Given the description of an element on the screen output the (x, y) to click on. 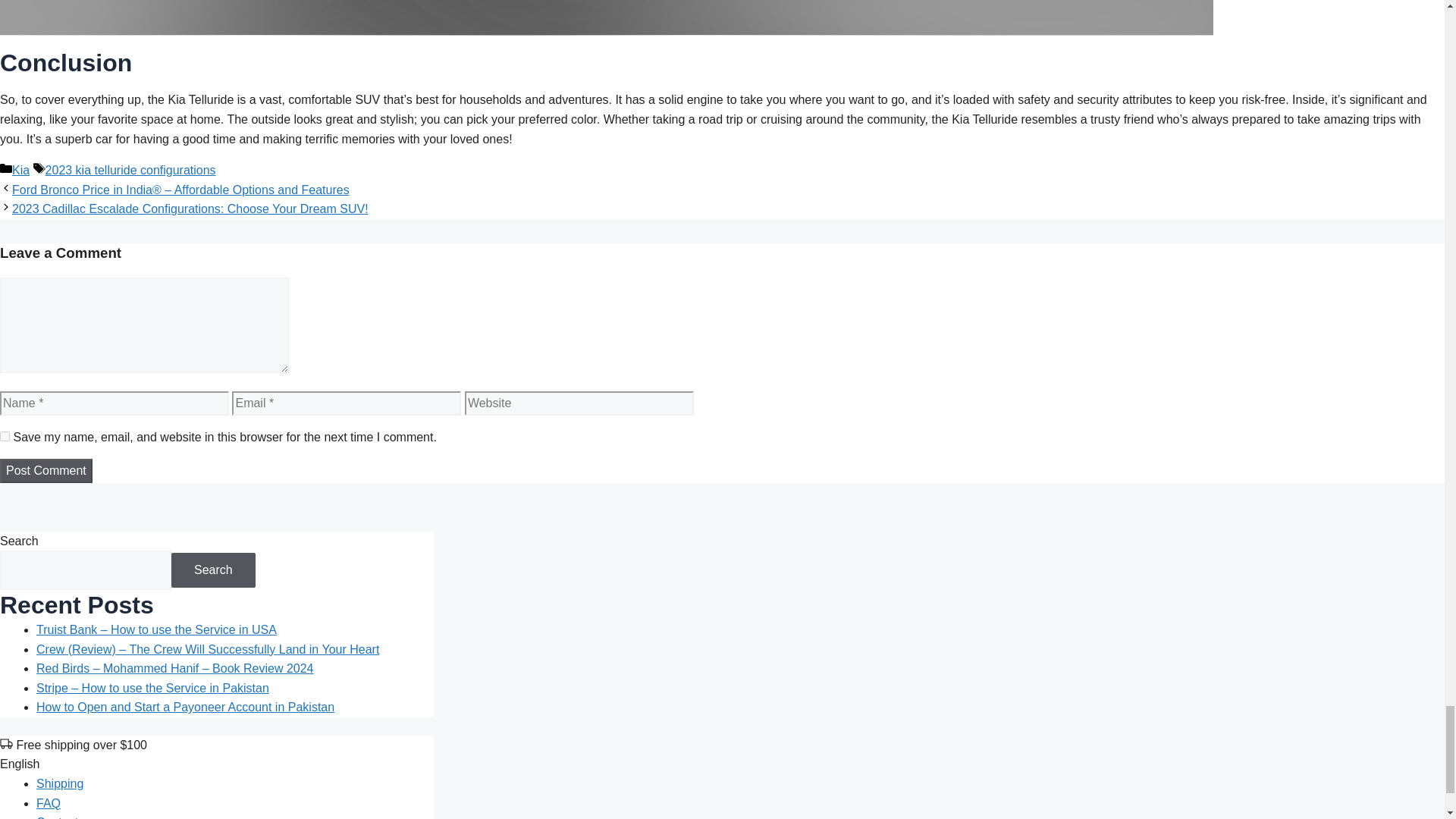
Search (213, 570)
Shipping (59, 783)
Kia (20, 169)
2023 kia telluride configurations (130, 169)
yes (5, 436)
FAQ (48, 802)
Contact (57, 817)
Post Comment (46, 470)
How to Open and Start a Payoneer Account in Pakistan (185, 707)
Post Comment (46, 470)
